Given the description of an element on the screen output the (x, y) to click on. 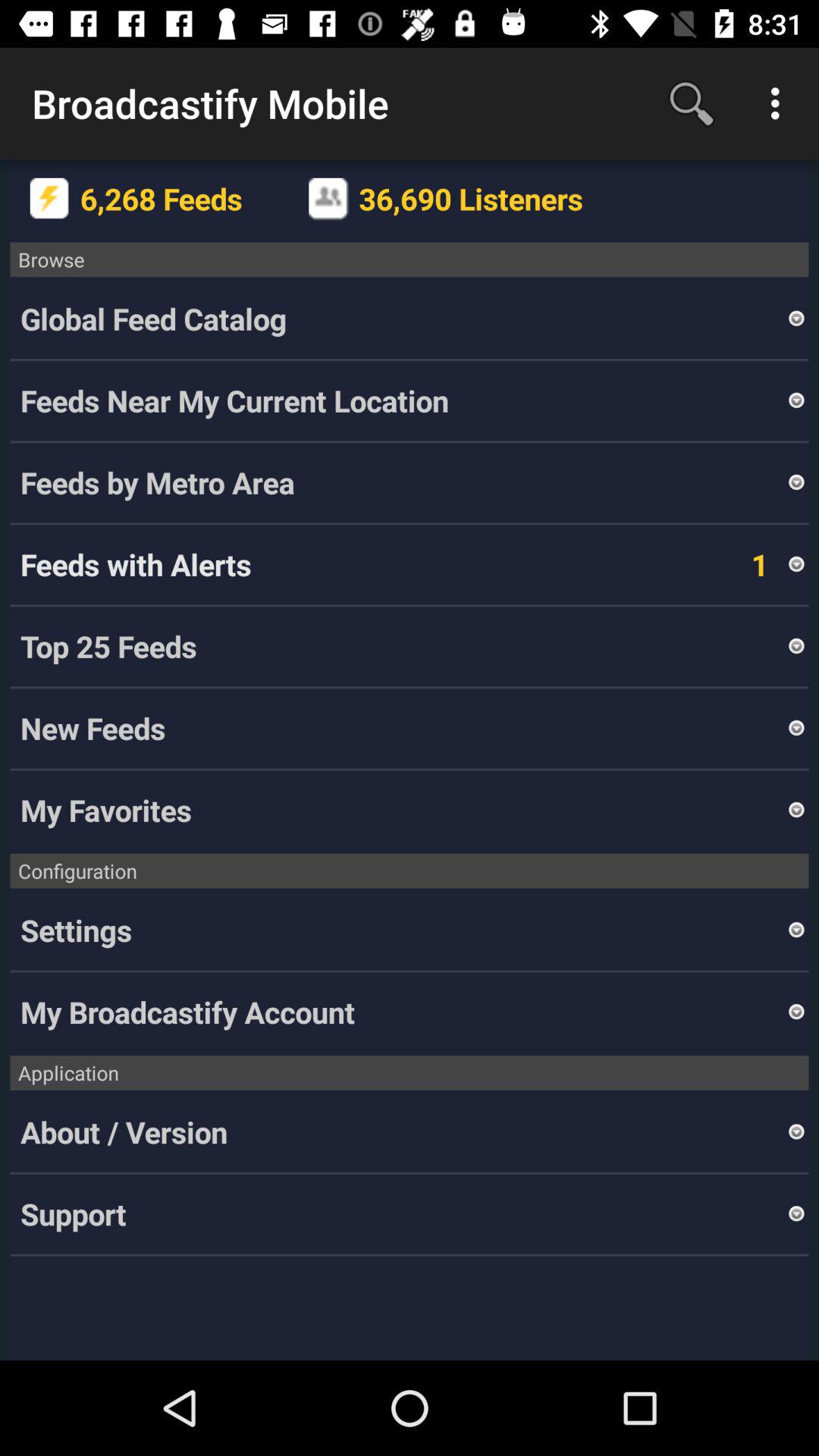
select item below the global feed catalog icon (402, 400)
